Given the description of an element on the screen output the (x, y) to click on. 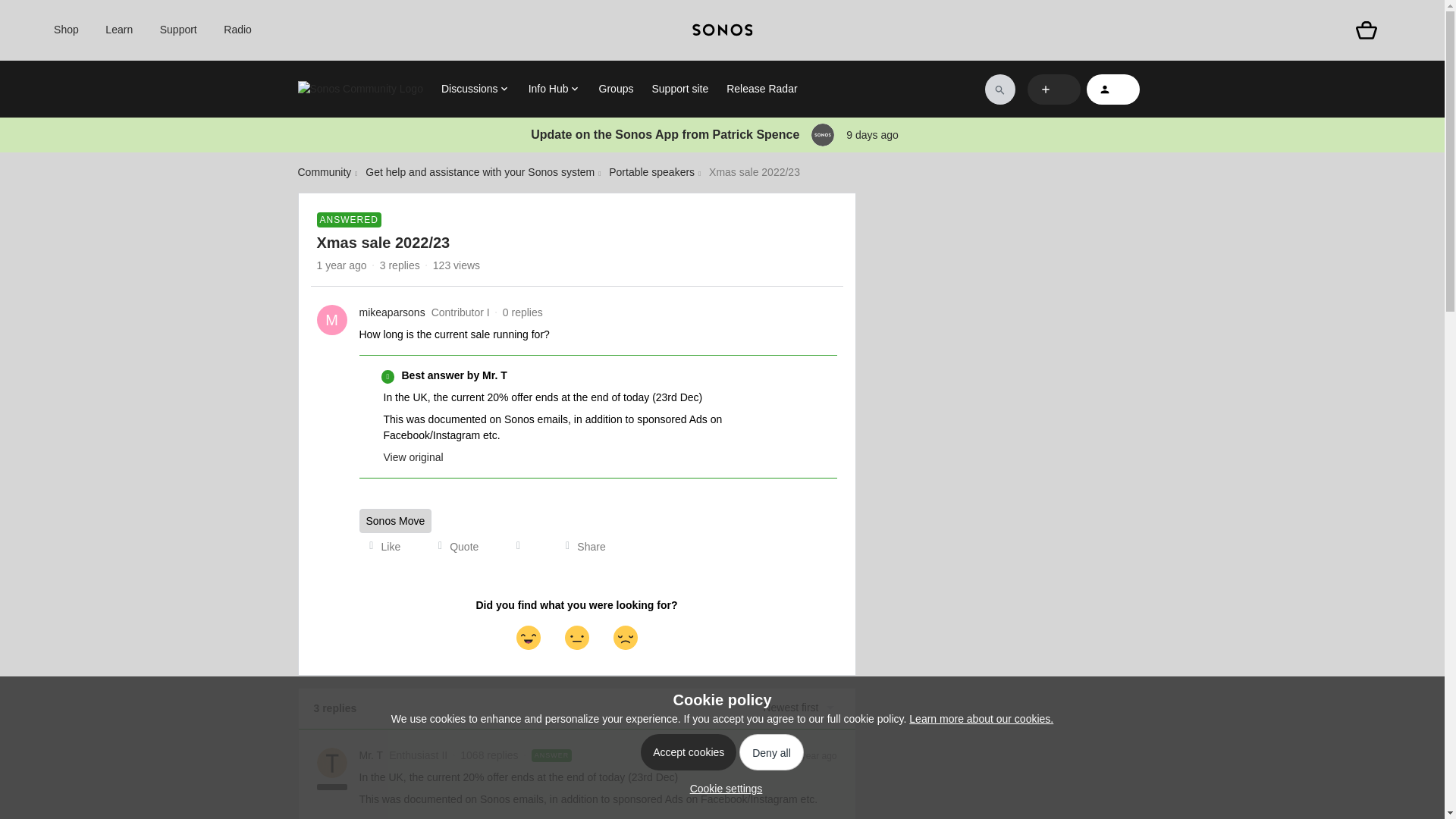
Radio (237, 30)
Support (178, 30)
Learn (118, 30)
Shop (65, 30)
Discussions (476, 88)
